Given the description of an element on the screen output the (x, y) to click on. 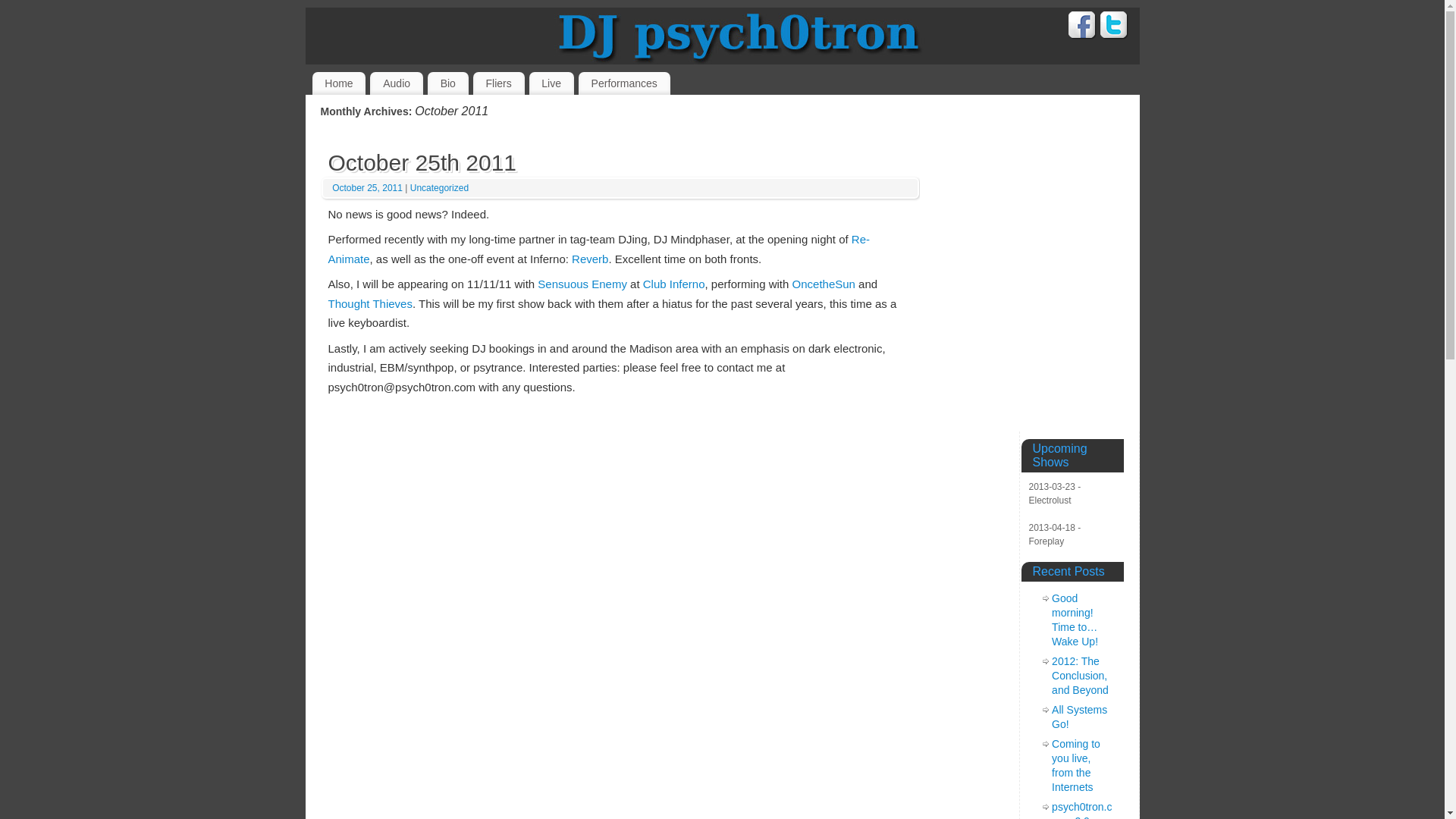
Thought Thieves (369, 303)
Home (339, 83)
Performances (623, 83)
Audio (395, 83)
Bio (448, 83)
Coming to you live, from the Internets (1075, 765)
October 25, 2011 (367, 187)
Uncategorized (439, 187)
View all posts in Uncategorized (439, 187)
Permalink to October 25th 2011 (421, 162)
Reverb (590, 258)
All Systems Go! (1078, 716)
2012: The Conclusion, and Beyond (1079, 675)
psych0tron.com.v2.0 (1081, 809)
Coming to you live, from the Internets (1075, 765)
